Given the description of an element on the screen output the (x, y) to click on. 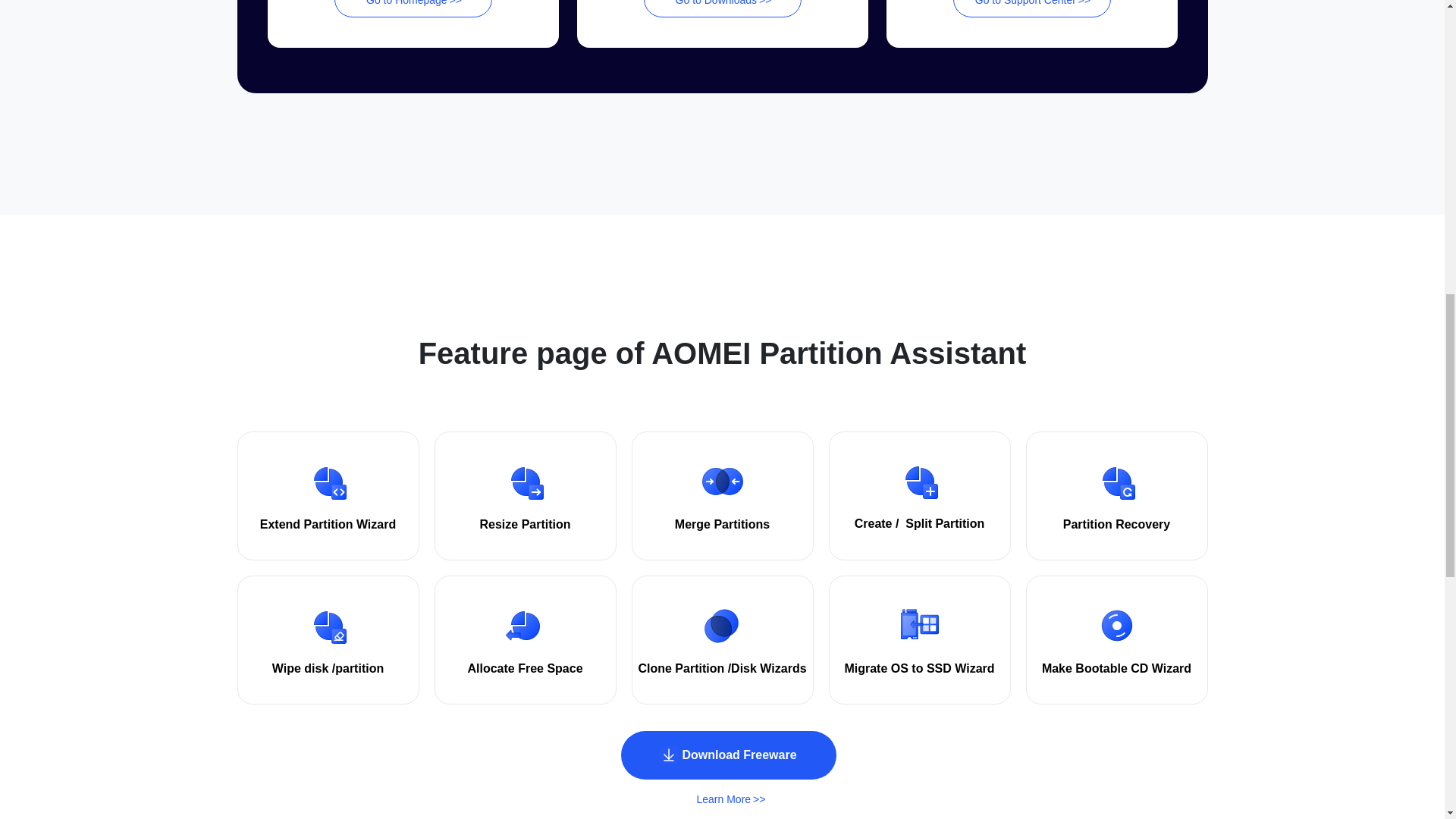
Go to Homepage (412, 8)
Extend Partition Wizard (328, 524)
Merge Partitions (722, 524)
Partition Recovery (1116, 524)
Split Partition (944, 523)
Go to Support Center (1030, 8)
Allocate Free Space (524, 668)
Migrate OS to SSD Wizard (919, 668)
Resize Partition (524, 524)
Go to Downloads (721, 8)
